Given the description of an element on the screen output the (x, y) to click on. 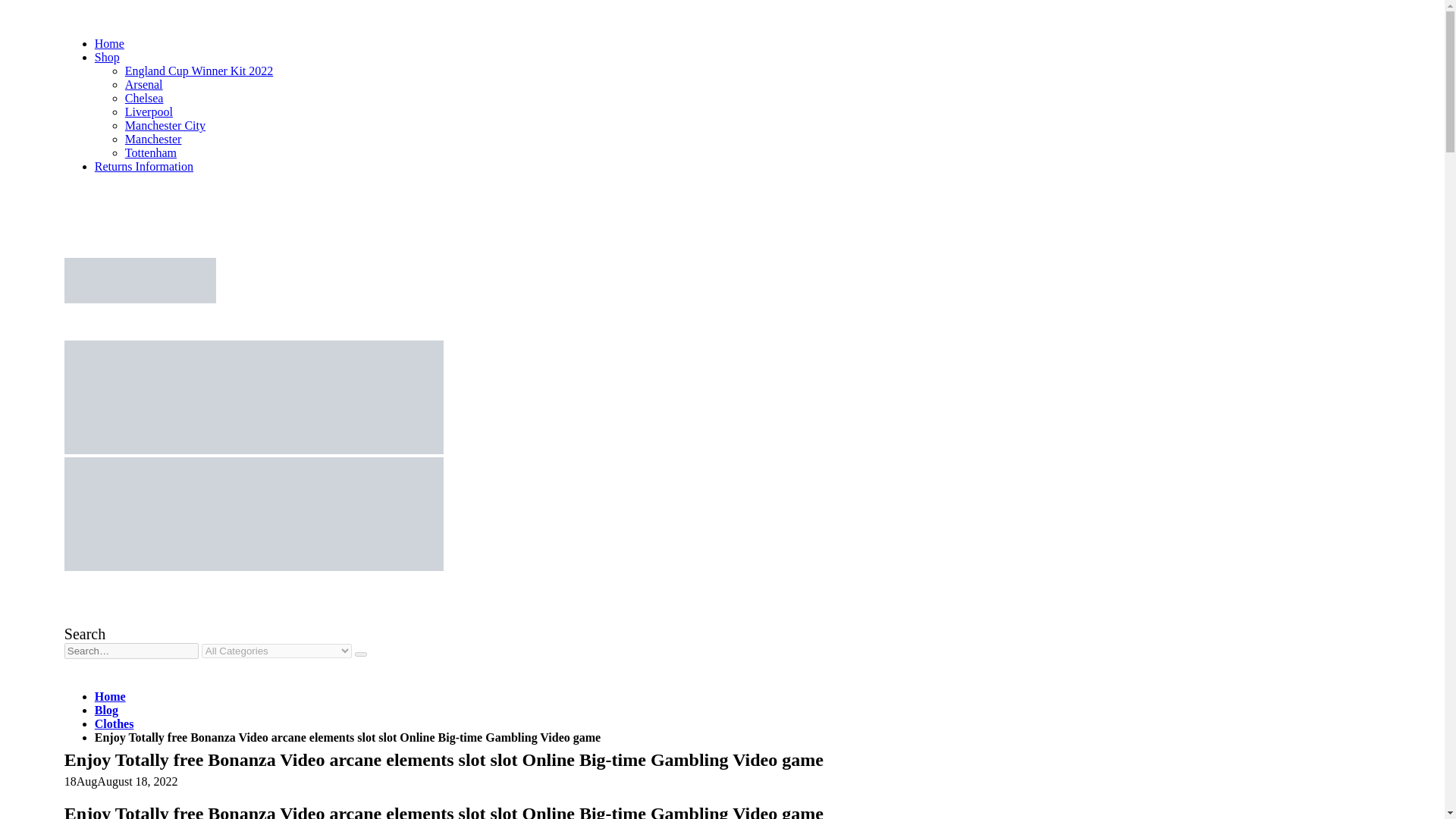
Shop (106, 56)
Manchester City (165, 124)
Home (108, 42)
Go to Home Page (109, 696)
Home (109, 696)
Search (84, 633)
Tottenham (150, 152)
Blog (105, 709)
Returns Information (143, 165)
Search (360, 653)
